Given the description of an element on the screen output the (x, y) to click on. 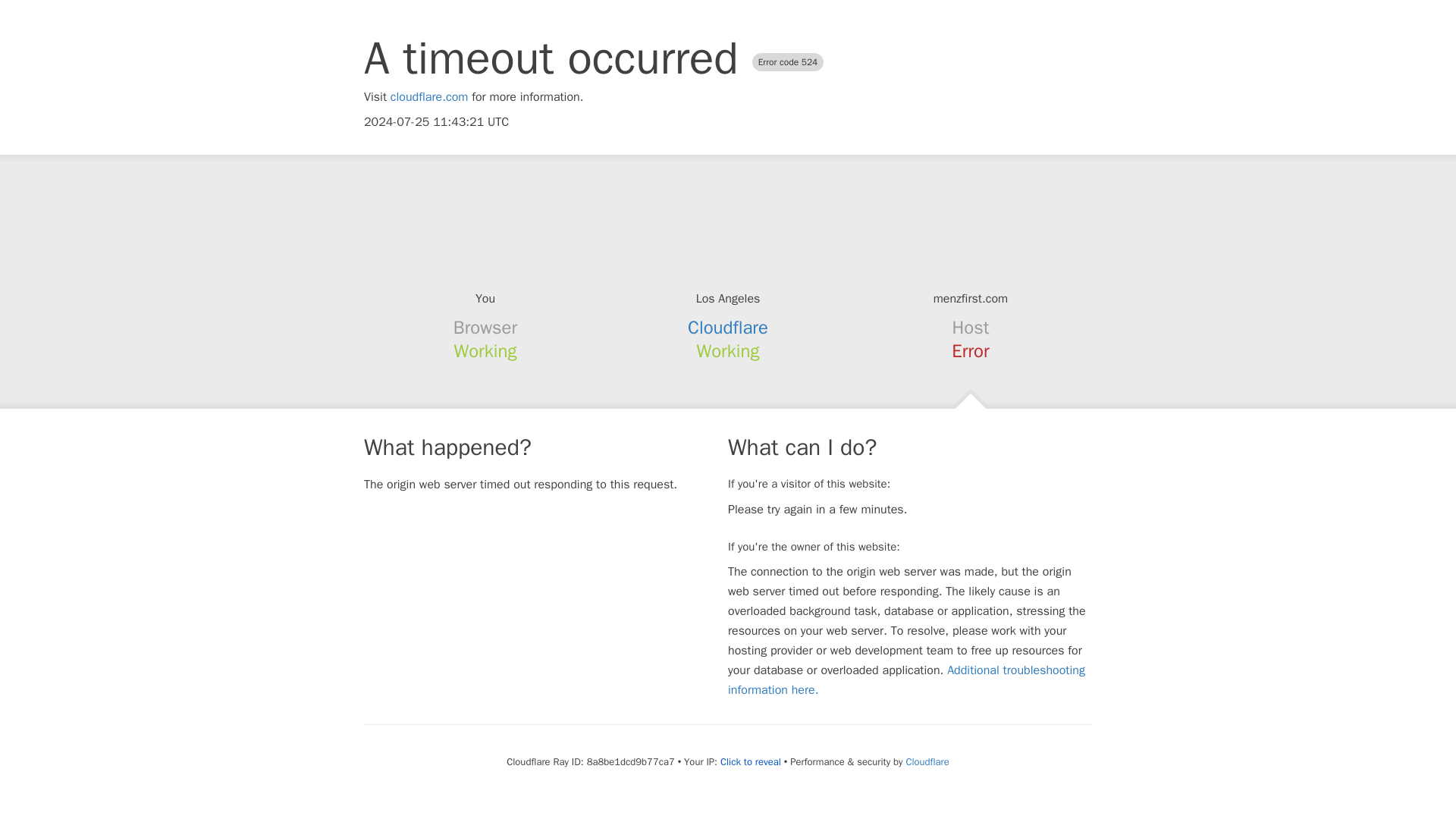
Cloudflare (927, 761)
Click to reveal (750, 762)
Cloudflare (727, 327)
Additional troubleshooting information here. (906, 679)
cloudflare.com (429, 96)
